Given the description of an element on the screen output the (x, y) to click on. 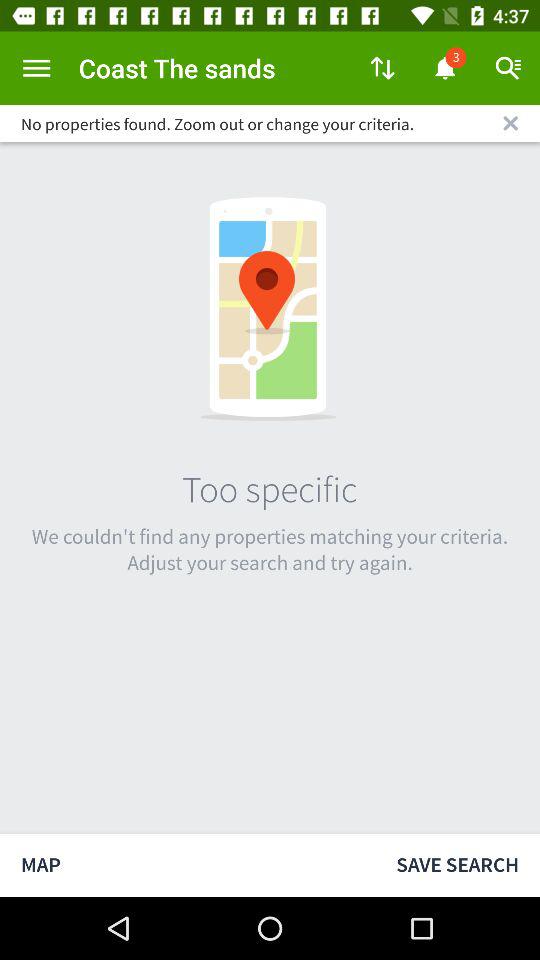
click the map (187, 864)
